Given the description of an element on the screen output the (x, y) to click on. 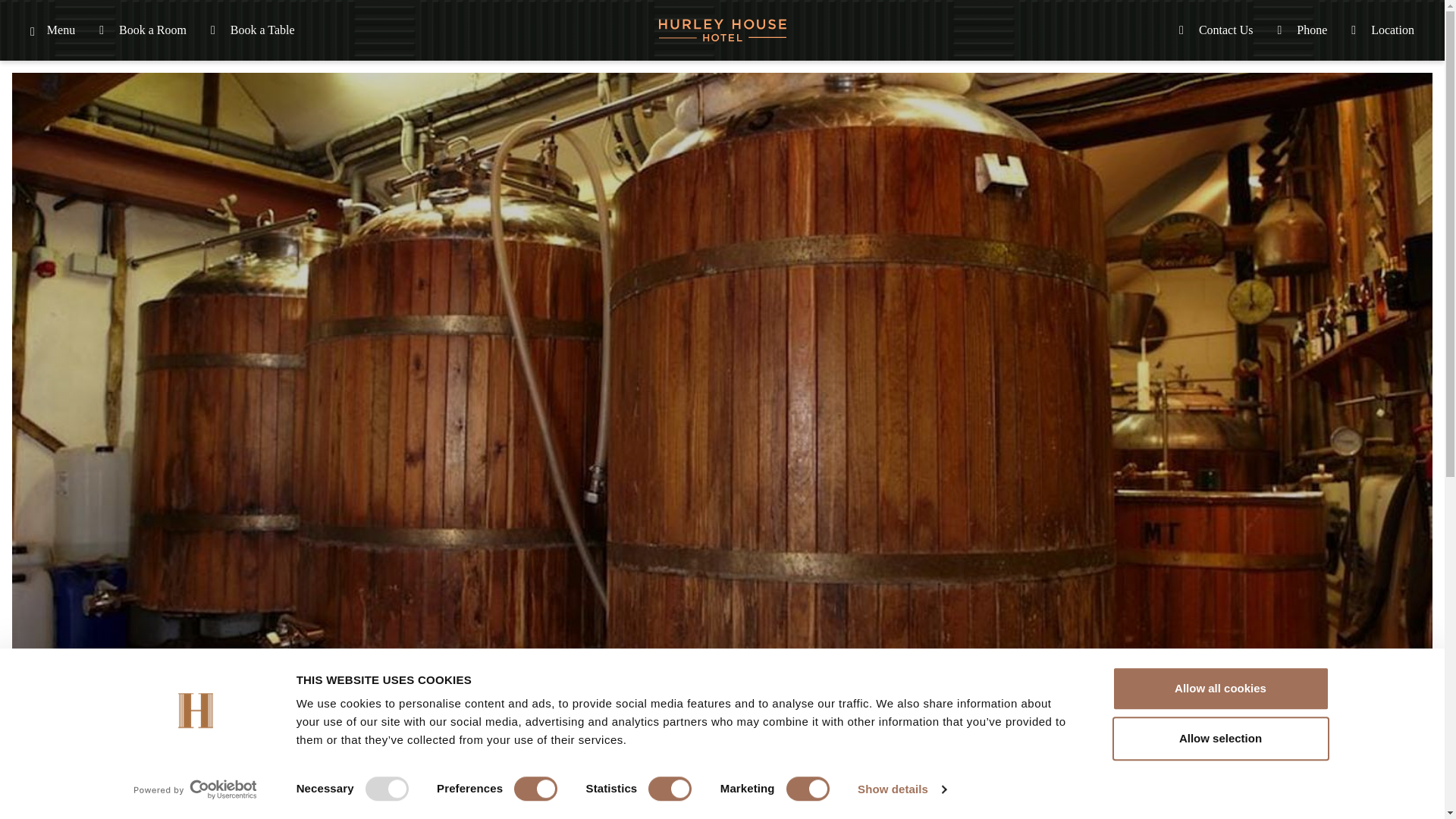
Show details (900, 789)
Allow selection (1219, 738)
Allow all cookies (1219, 688)
